Given the description of an element on the screen output the (x, y) to click on. 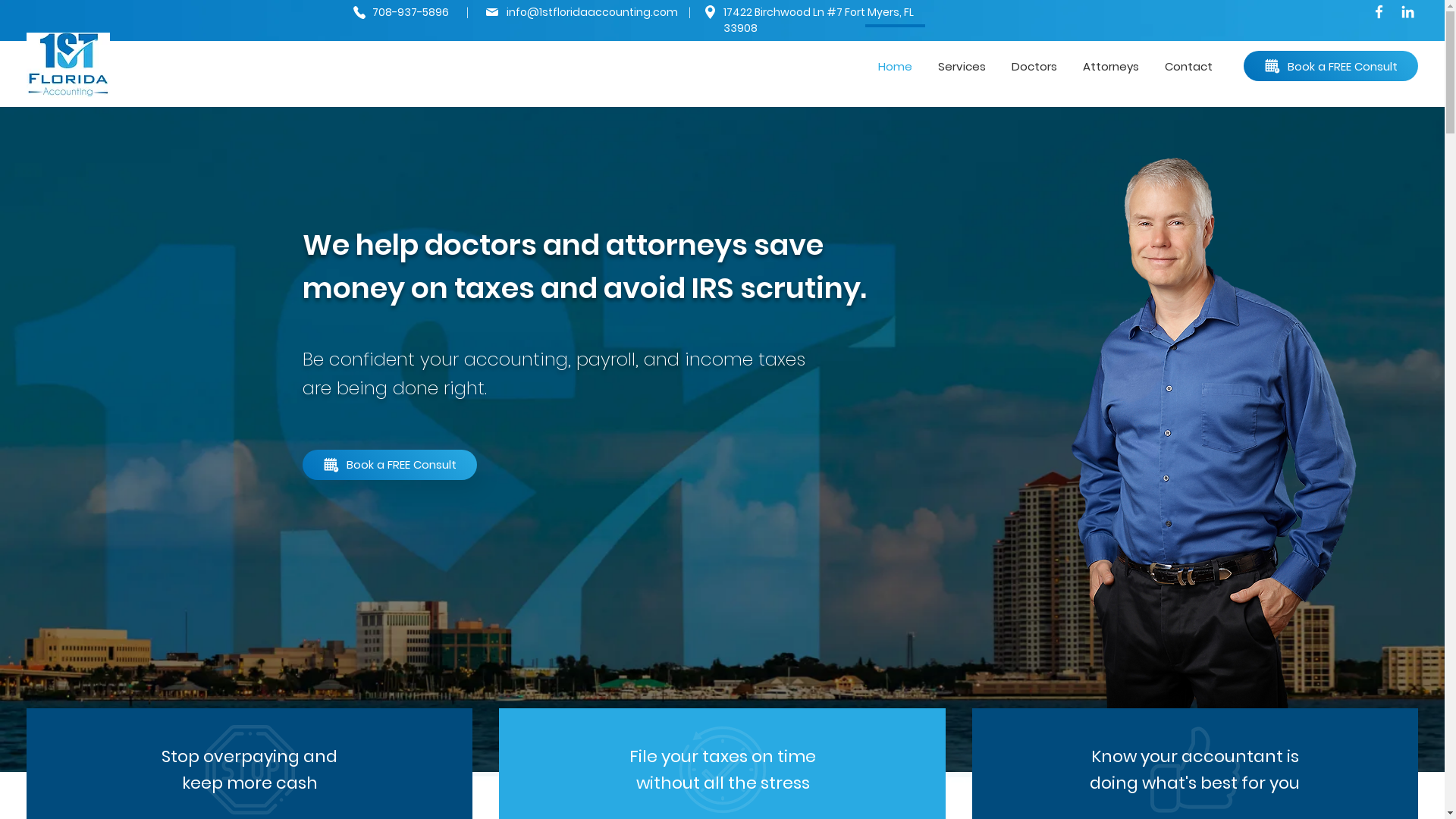
Home Element type: text (895, 59)
708-937-5896 Element type: text (409, 11)
Services Element type: text (961, 59)
info@1stfloridaaccounting.com Element type: text (591, 11)
Book a FREE Consult Element type: text (389, 464)
Attorneys Element type: text (1110, 59)
Contact Element type: text (1187, 59)
Doctors Element type: text (1034, 59)
Book a FREE Consult Element type: text (1330, 65)
